Given the description of an element on the screen output the (x, y) to click on. 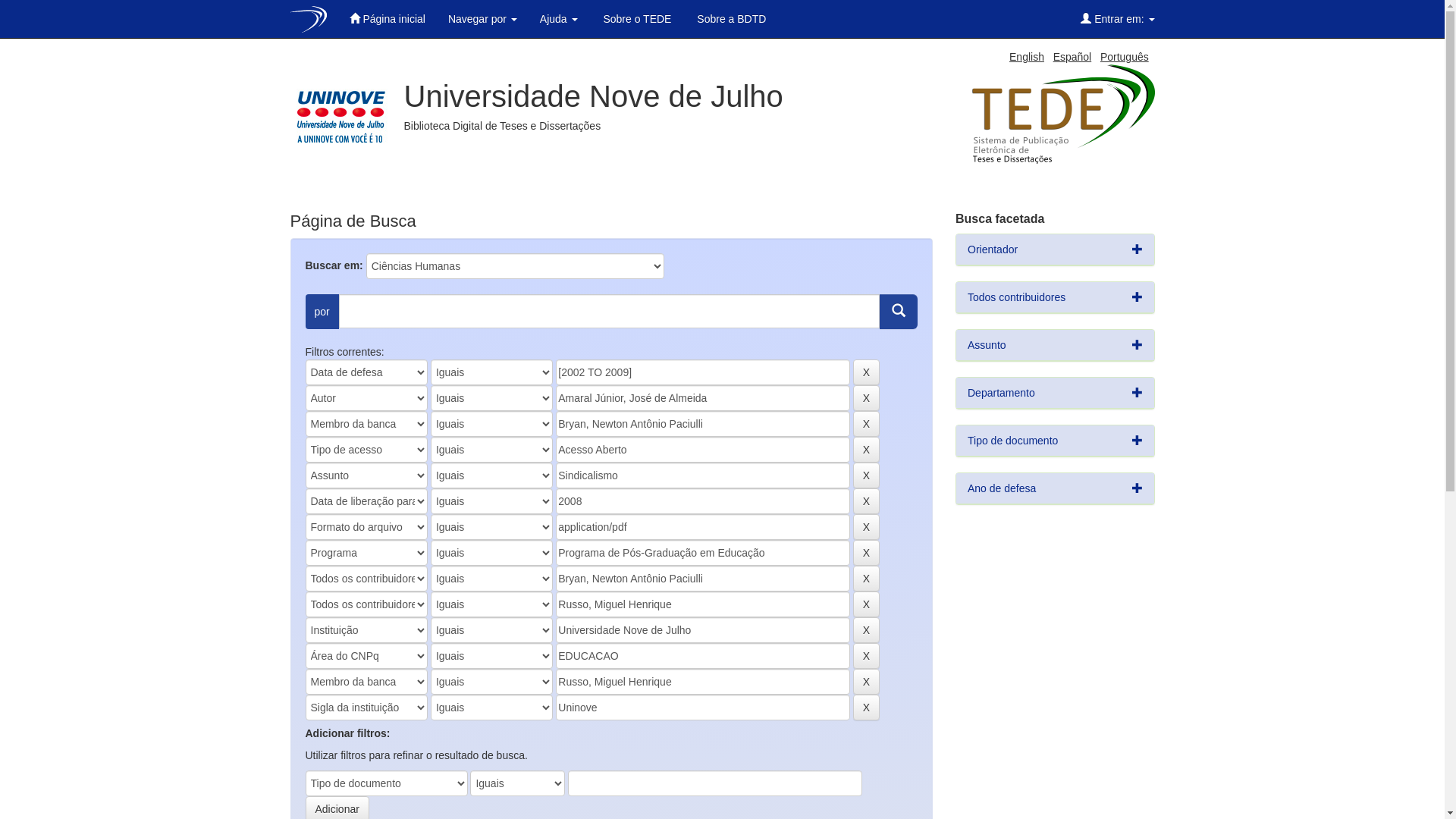
English Element type: text (1026, 56)
X Element type: text (866, 501)
Navegar por Element type: text (482, 18)
X Element type: text (866, 630)
X Element type: text (866, 707)
X Element type: text (866, 372)
X Element type: text (866, 526)
X Element type: text (866, 604)
Entrar em: Element type: text (1117, 18)
Sobre o TEDE Element type: text (636, 18)
X Element type: text (866, 423)
X Element type: text (866, 398)
X Element type: text (866, 475)
X Element type: text (866, 578)
Sobre a BDTD Element type: text (729, 18)
X Element type: text (866, 681)
X Element type: text (866, 552)
X Element type: text (866, 449)
X Element type: text (866, 655)
Ajuda Element type: text (558, 18)
